Given the description of an element on the screen output the (x, y) to click on. 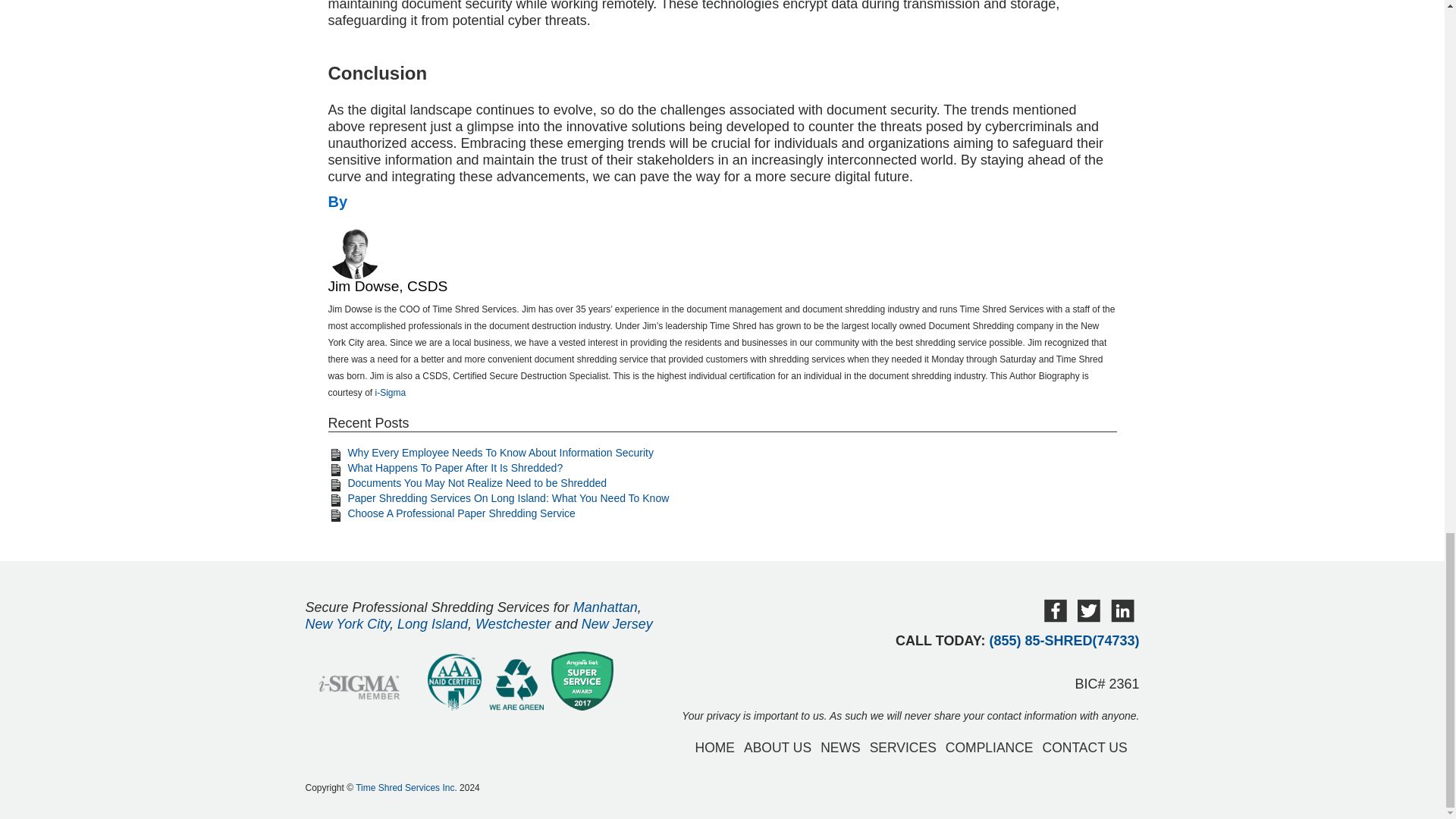
What Happens To Paper After It Is Shredded? (454, 467)
Jim Dowse, CSDS (386, 286)
Time Shred Services Inc. Facebook Page (1054, 617)
Documents You May Not Realize Need to be Shredded (477, 482)
Time Shred Services Inc. Linked In Page (1121, 617)
Choose A Professional Paper Shredding Service (461, 512)
Time Shred Services Inc. Twitter Page (1088, 617)
Why Every Employee Needs To Know About Information Security (500, 452)
